Given the description of an element on the screen output the (x, y) to click on. 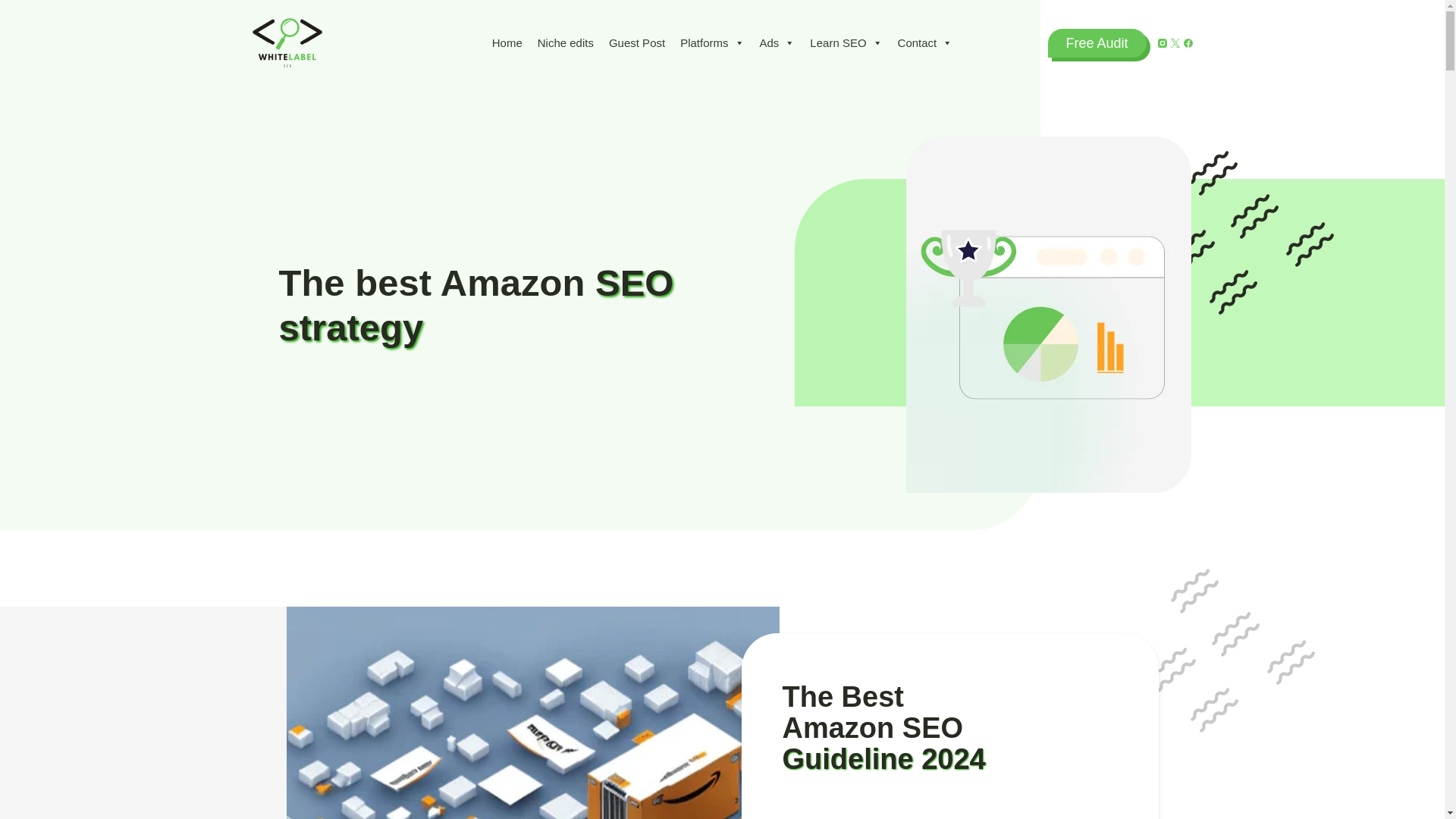
Learn SEO (845, 42)
Niche edits (565, 42)
Contact (924, 42)
Free Audit (1097, 42)
Platforms (711, 42)
Home (506, 42)
Ads (777, 42)
Guest Post (636, 42)
Logo (286, 42)
